Given the description of an element on the screen output the (x, y) to click on. 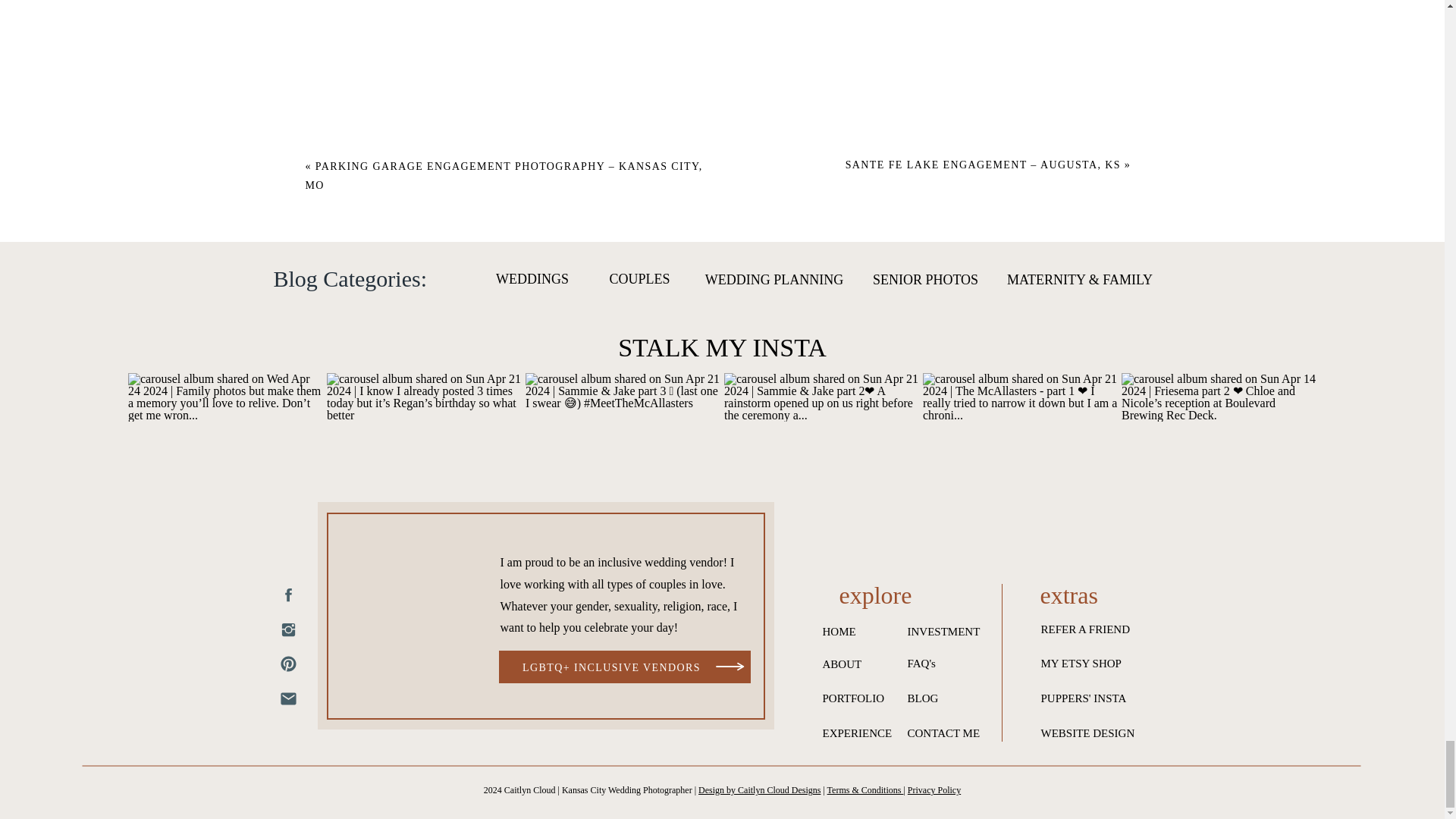
HOME (844, 632)
COUPLES (639, 280)
WEDDINGS (531, 281)
SENIOR PHOTOS (925, 280)
WEDDING PLANNING (774, 280)
PORTFOLIO (860, 700)
CONTACT ME (957, 734)
ABOUT (846, 666)
INVESTMENT (948, 631)
